Given the description of an element on the screen output the (x, y) to click on. 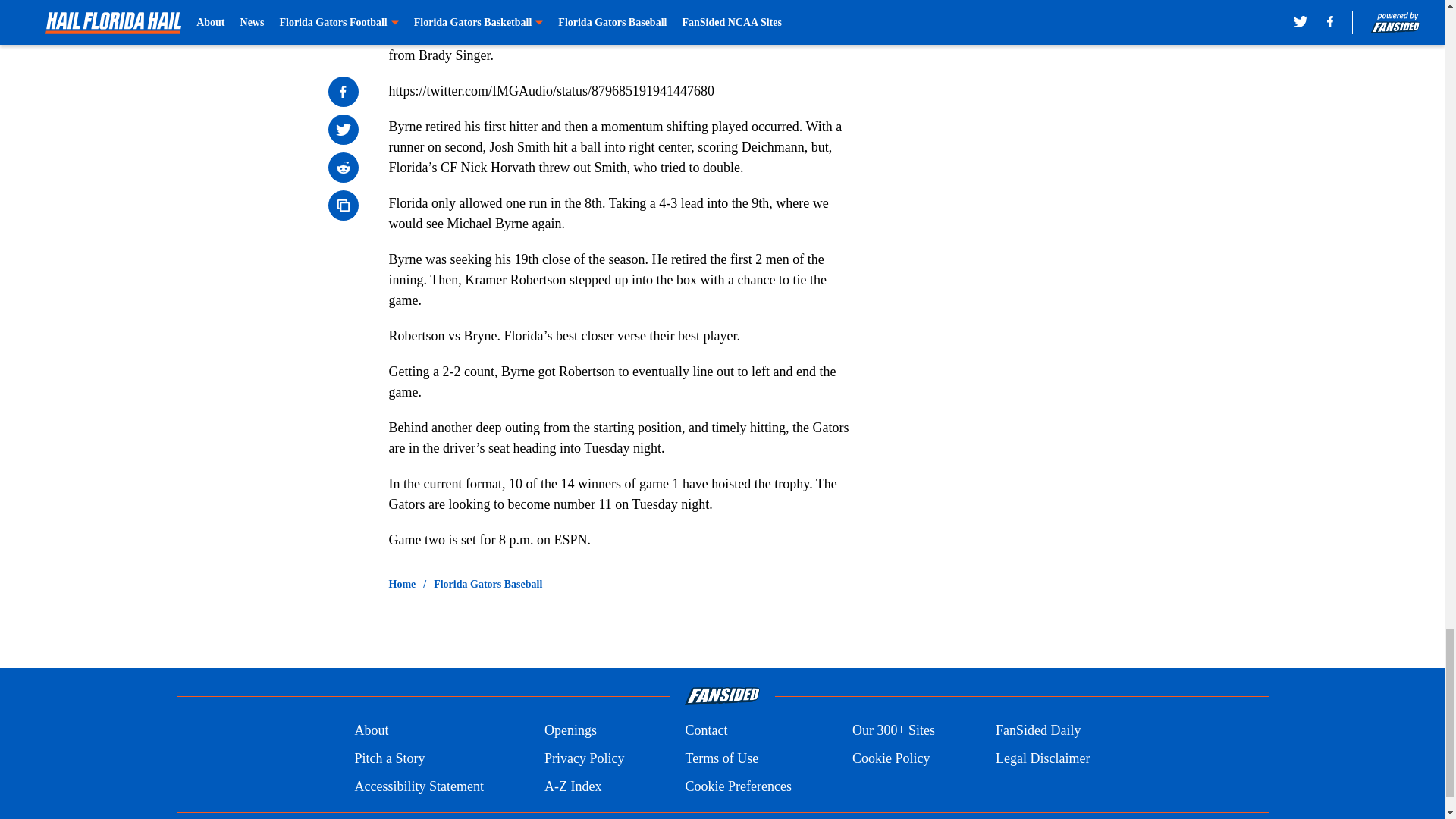
Pitch a Story (389, 758)
Florida Gators Baseball (487, 584)
Openings (570, 730)
Terms of Use (721, 758)
Home (401, 584)
Privacy Policy (584, 758)
FanSided Daily (1038, 730)
About (370, 730)
Contact (705, 730)
